Given the description of an element on the screen output the (x, y) to click on. 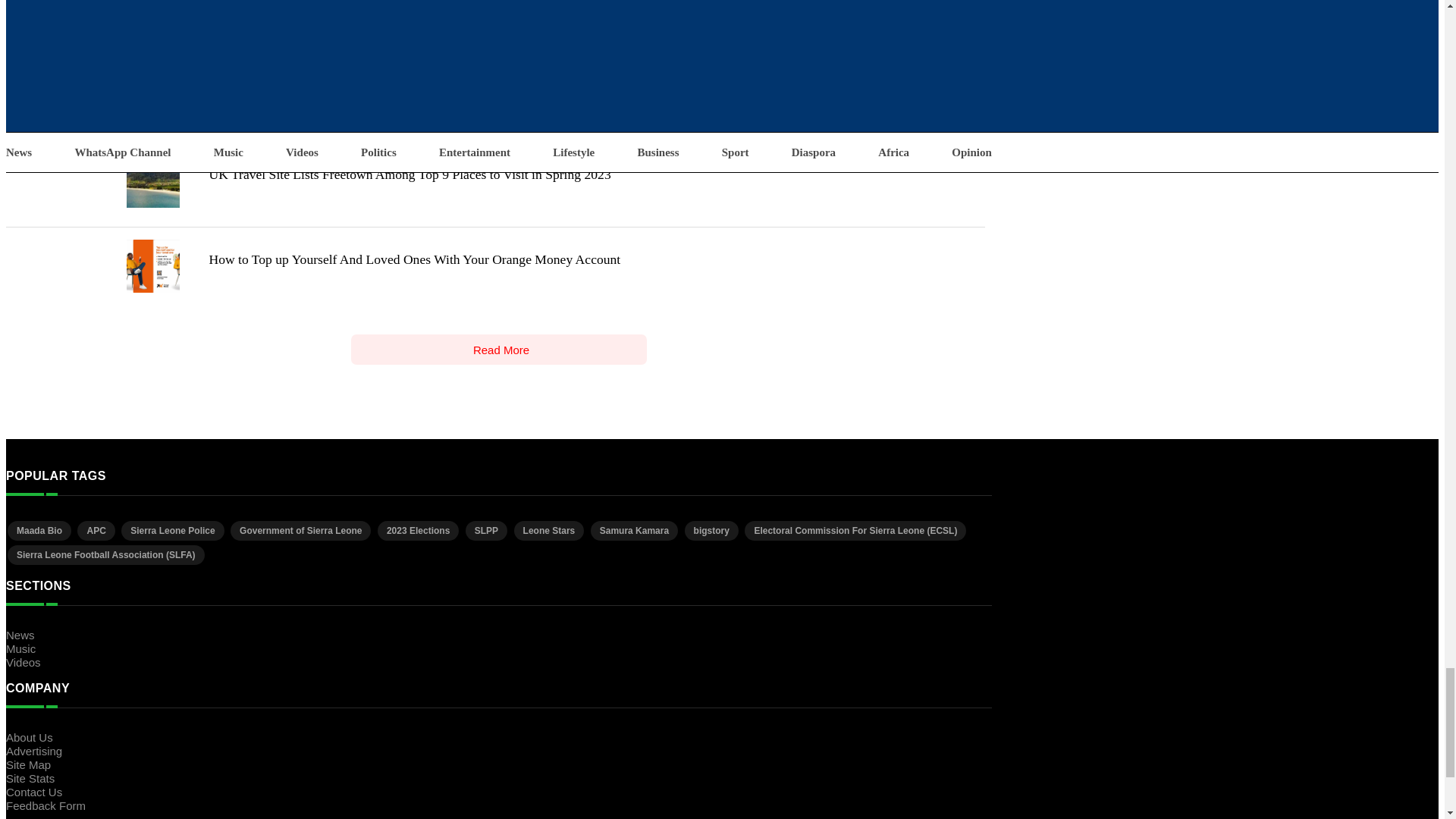
Maada Bio (39, 530)
